Given the description of an element on the screen output the (x, y) to click on. 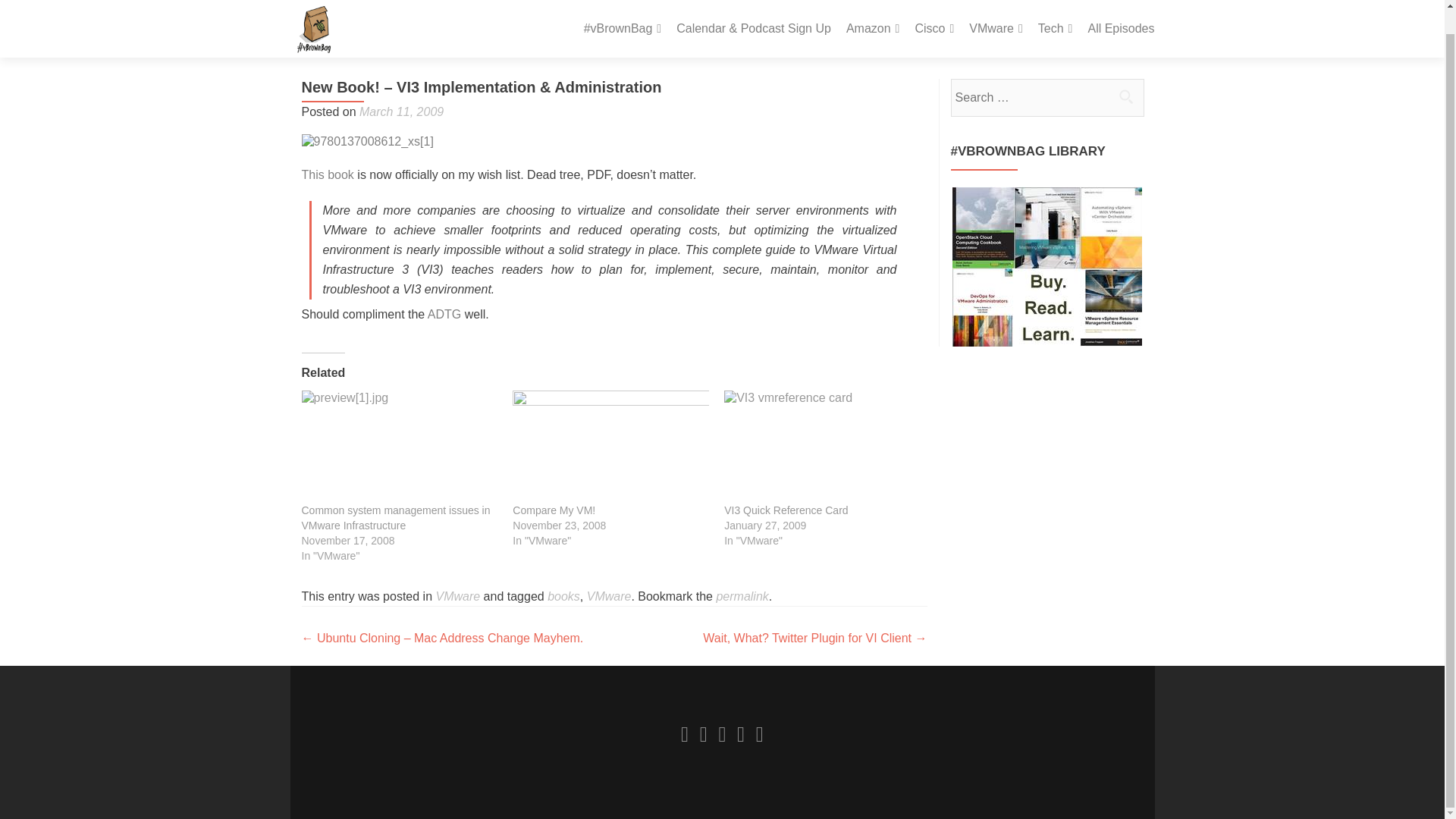
Tech (1055, 8)
Common system management issues in VMware Infrastructure (399, 446)
Compare My VM! (553, 510)
Compare My VM! (610, 446)
Search (1125, 95)
VI3 Quick Reference Card (821, 446)
Search (1125, 95)
Cisco (933, 8)
Amazon (872, 8)
VMware (996, 8)
VI3 Quick Reference Card (785, 510)
Common system management issues in VMware Infrastructure (395, 517)
